Given the description of an element on the screen output the (x, y) to click on. 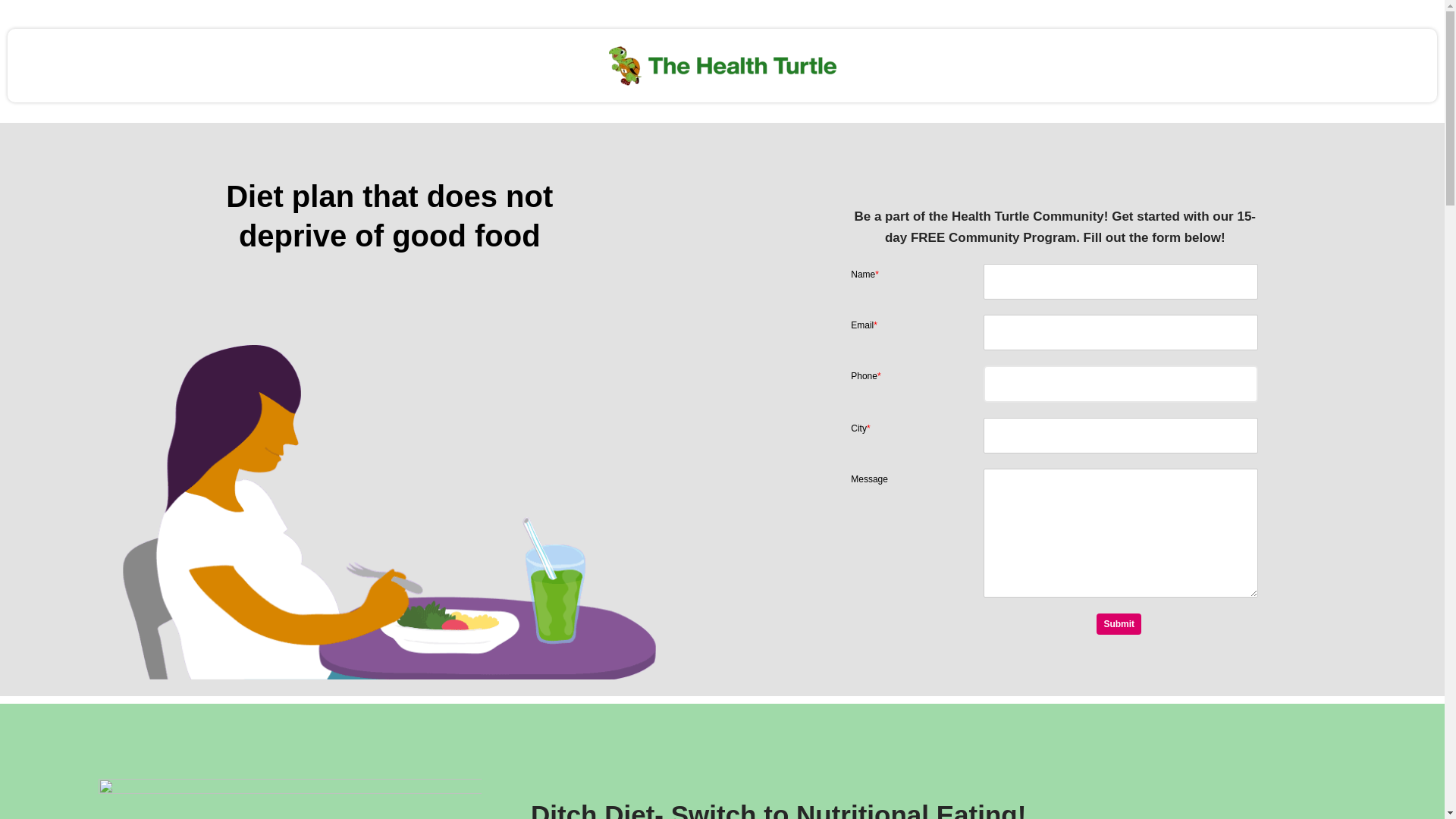
Submit (1118, 623)
Submit (1118, 623)
Submit (1118, 623)
